Given the description of an element on the screen output the (x, y) to click on. 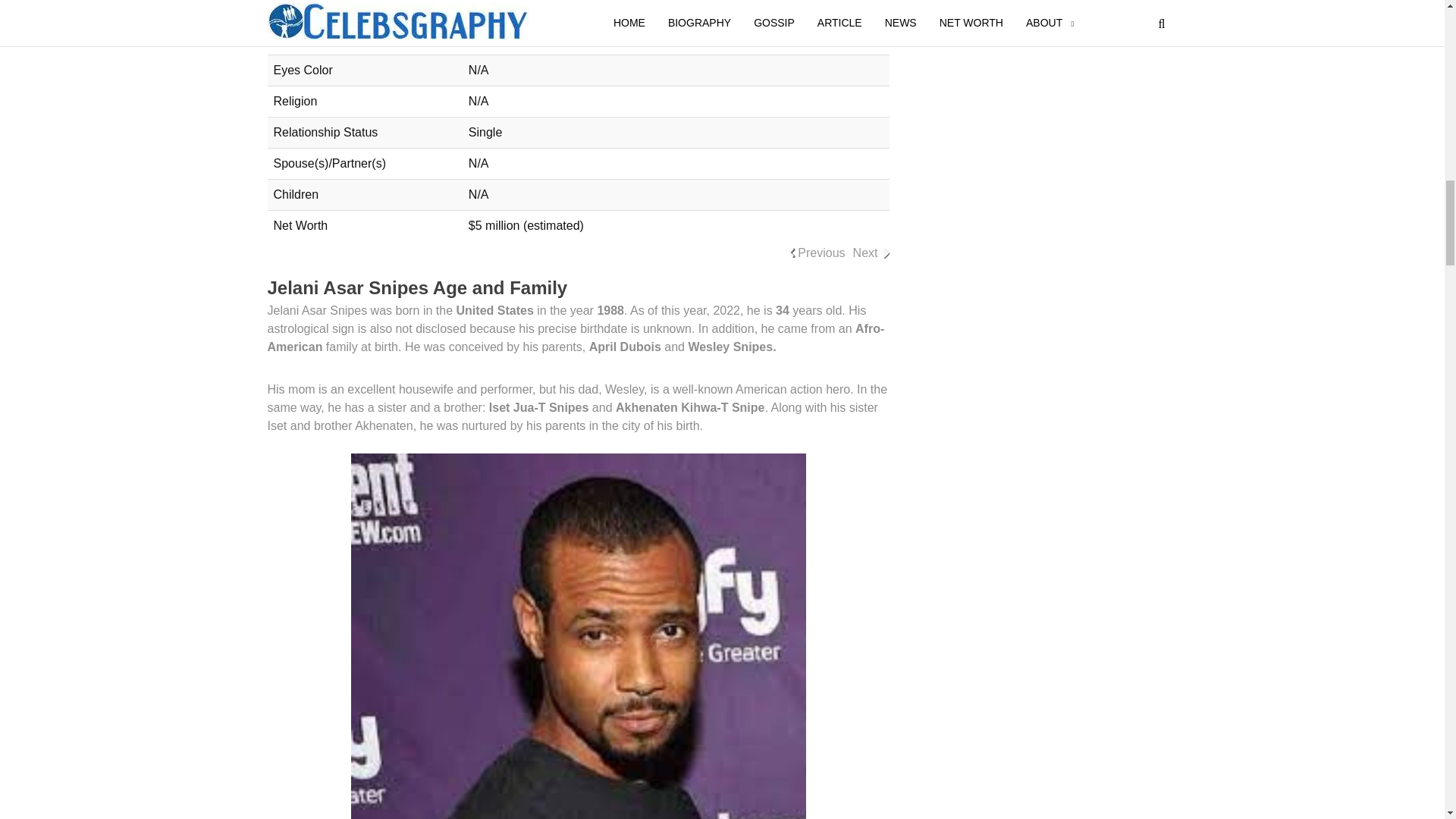
Previous (820, 253)
Next (865, 253)
